Given the description of an element on the screen output the (x, y) to click on. 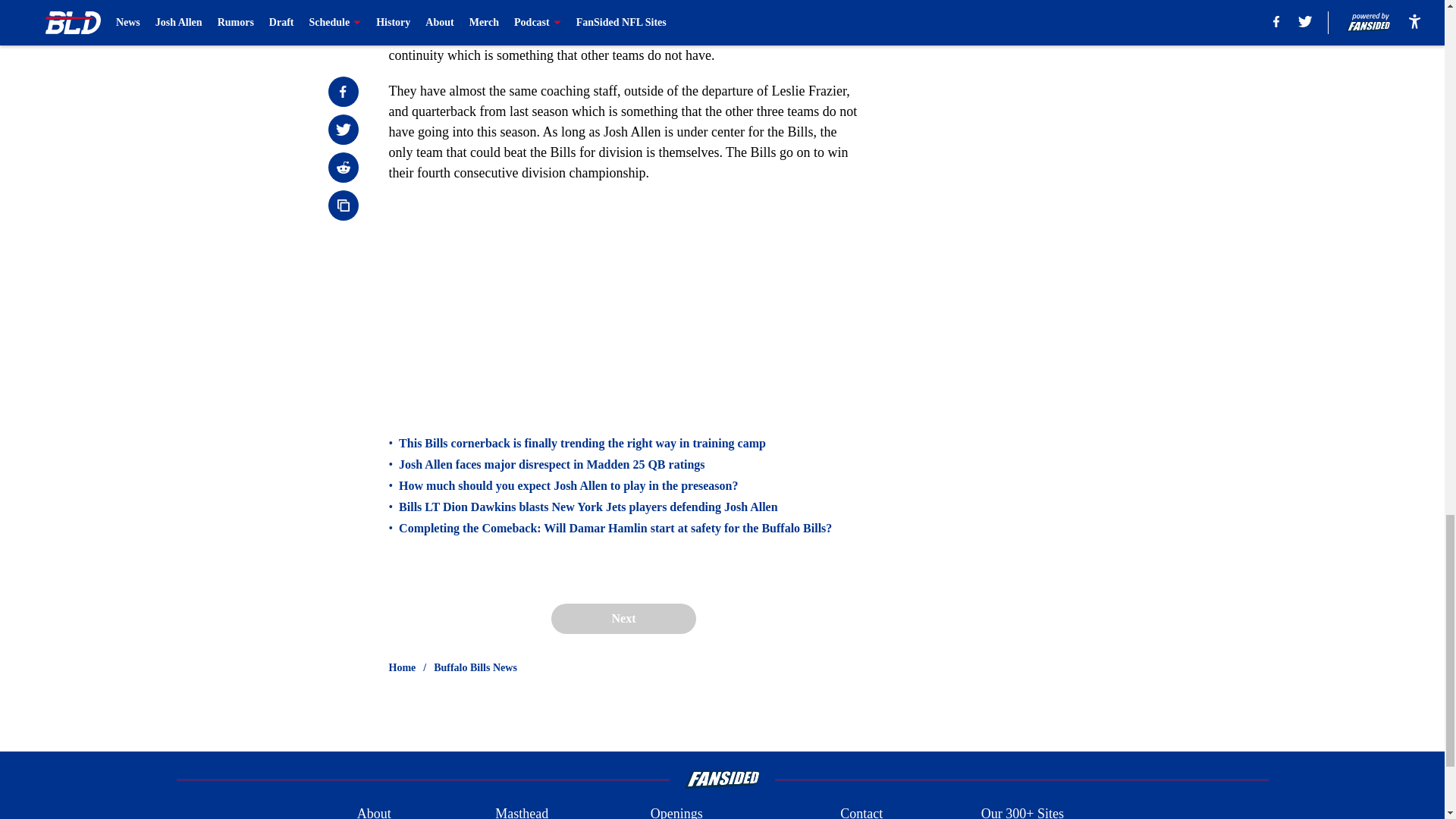
Contact (861, 811)
Openings (676, 811)
Next (622, 618)
About (373, 811)
Home (401, 667)
Josh Allen faces major disrespect in Madden 25 QB ratings (551, 464)
Buffalo Bills News (474, 667)
Gabriel Davis (691, 14)
Masthead (521, 811)
